Given the description of an element on the screen output the (x, y) to click on. 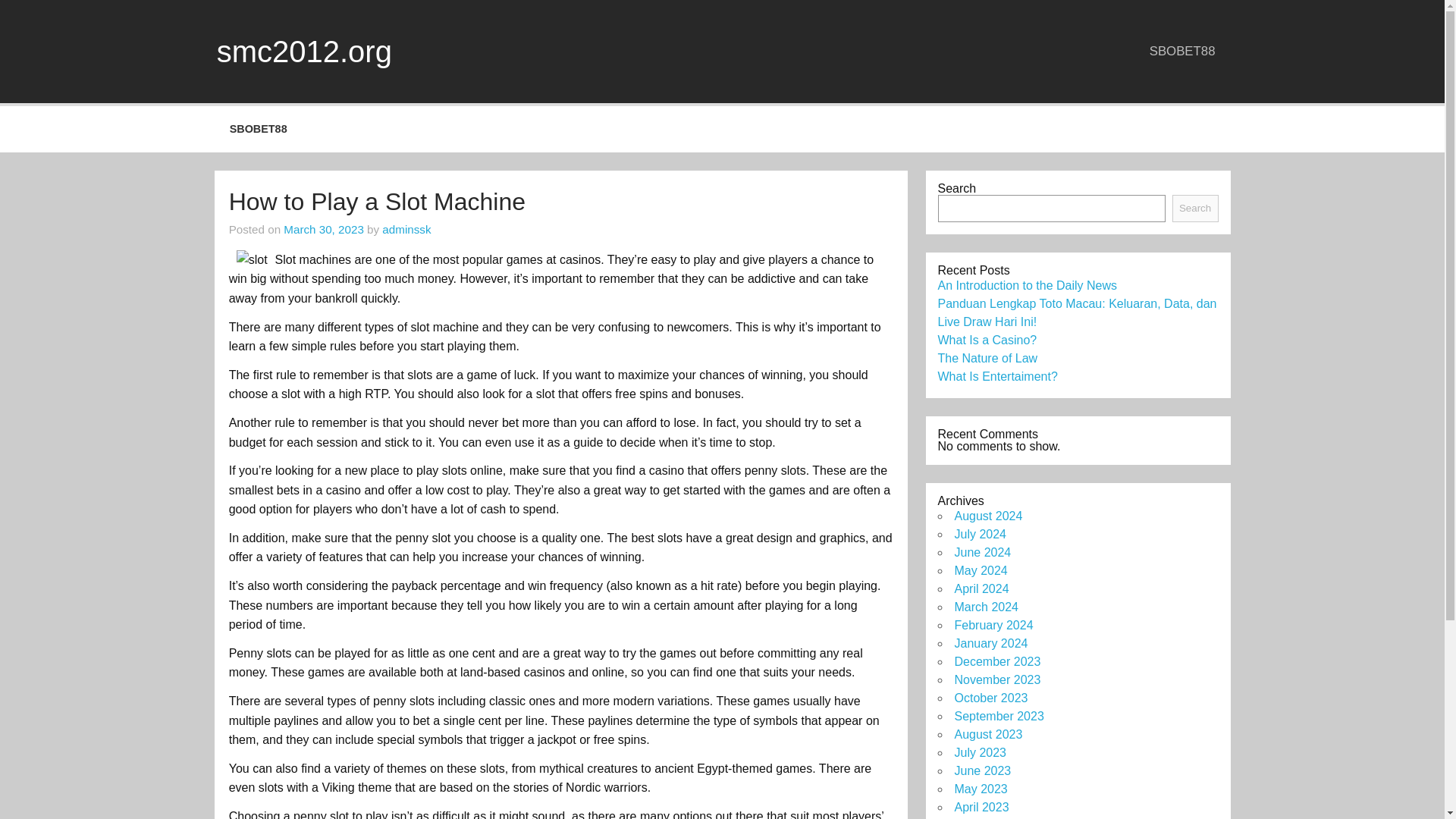
August 2023 (987, 734)
October 2023 (990, 697)
May 2023 (980, 788)
April 2024 (981, 588)
SBOBET88 (257, 128)
April 2023 (981, 807)
adminssk (405, 228)
March 30, 2023 (323, 228)
smc2012.org (303, 51)
June 2024 (981, 552)
July 2023 (979, 752)
An Introduction to the Daily News (1026, 285)
August 2024 (987, 515)
December 2023 (997, 661)
January 2024 (990, 643)
